Given the description of an element on the screen output the (x, y) to click on. 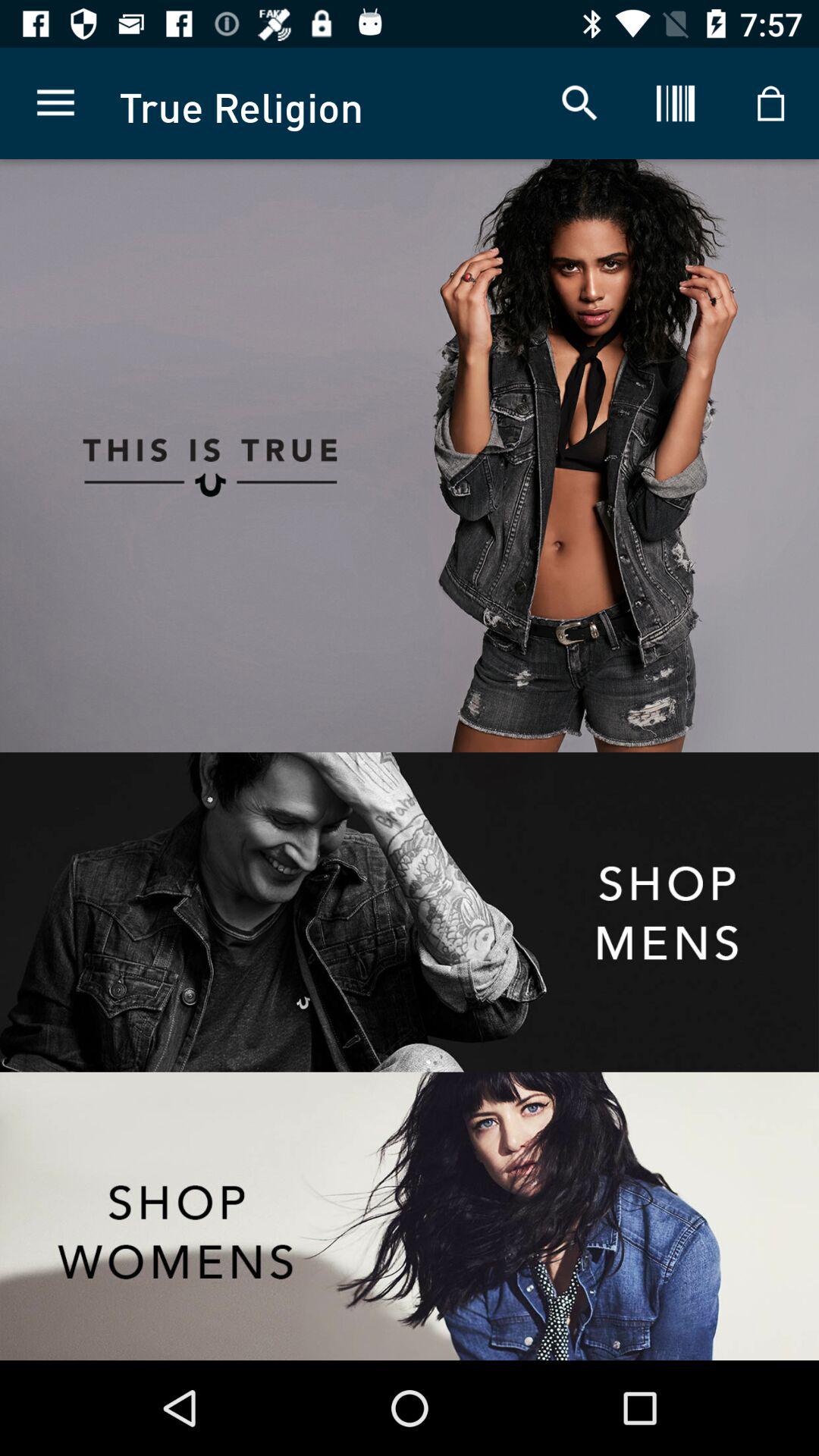
select picture (614, 455)
